Given the description of an element on the screen output the (x, y) to click on. 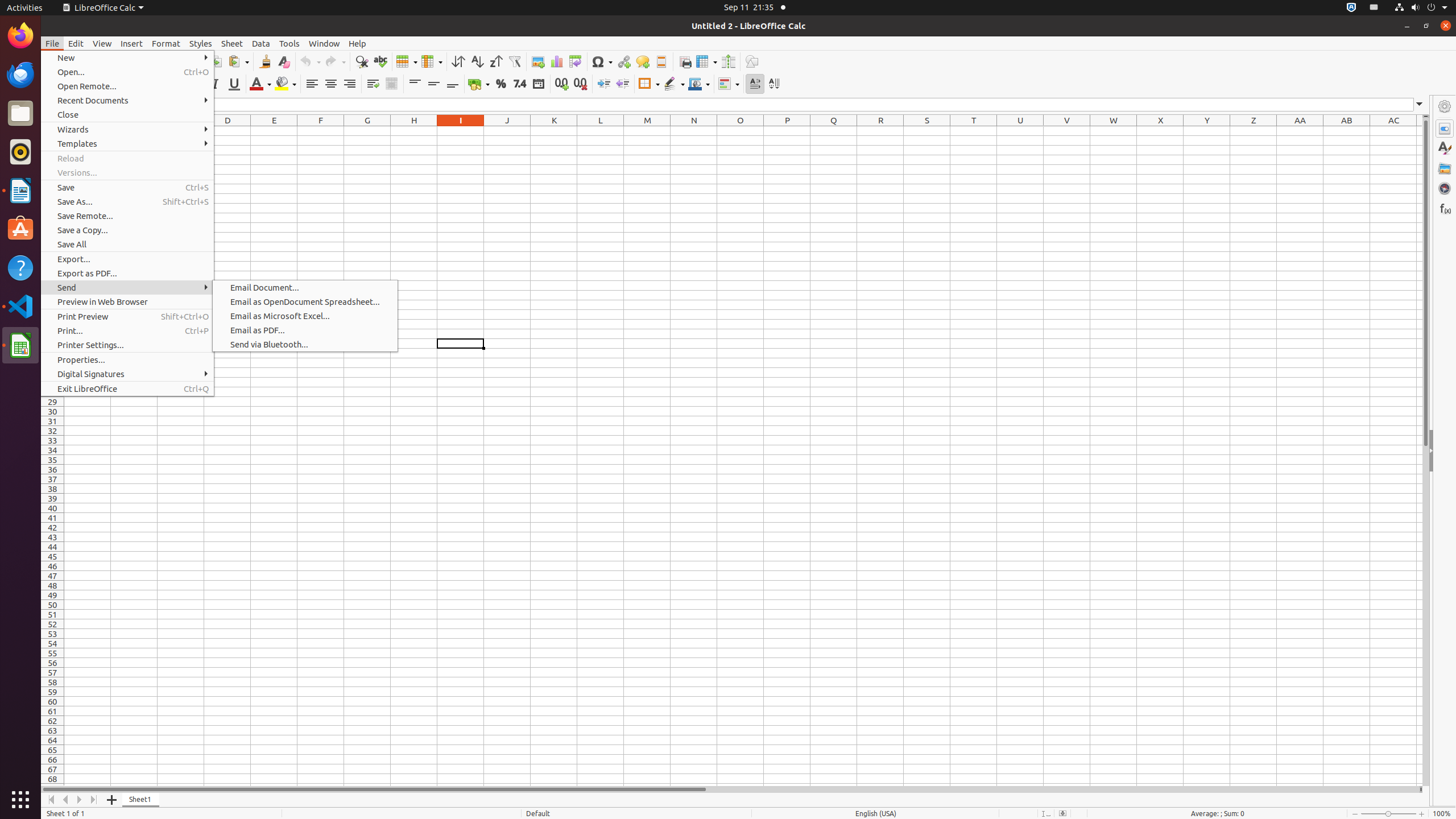
K1 Element type: table-cell (553, 130)
F1 Element type: table-cell (320, 130)
Q1 Element type: table-cell (833, 130)
Styles Element type: menu (200, 43)
X1 Element type: table-cell (1159, 130)
